Given the description of an element on the screen output the (x, y) to click on. 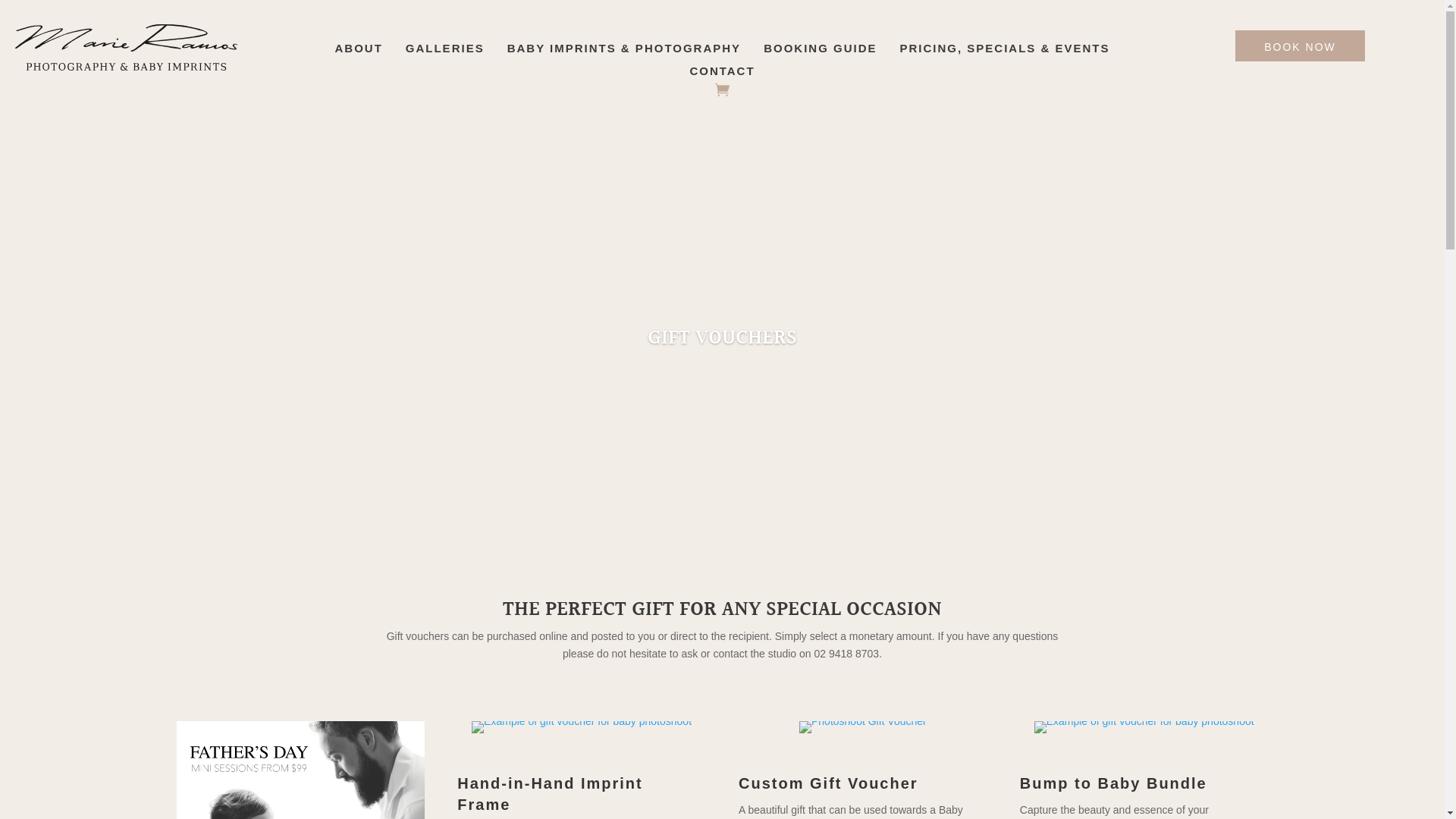
GALLERIES Element type: text (444, 51)
CONTACT Element type: text (721, 73)
Marie Ramos Photography Logo  Element type: hover (126, 47)
PRICING, SPECIALS & EVENTS Element type: text (1004, 51)
BOOKING GUIDE Element type: text (819, 51)
2V0A6165 RT Element type: hover (862, 727)
BABY IMPRINTS & PHOTOGRAPHY Element type: text (623, 51)
BOOK NOW Element type: text (1300, 45)
ABOUT Element type: text (358, 51)
bump to baby 2 Element type: hover (1144, 727)
hand in hand imprint frame Element type: hover (581, 727)
